Given the description of an element on the screen output the (x, y) to click on. 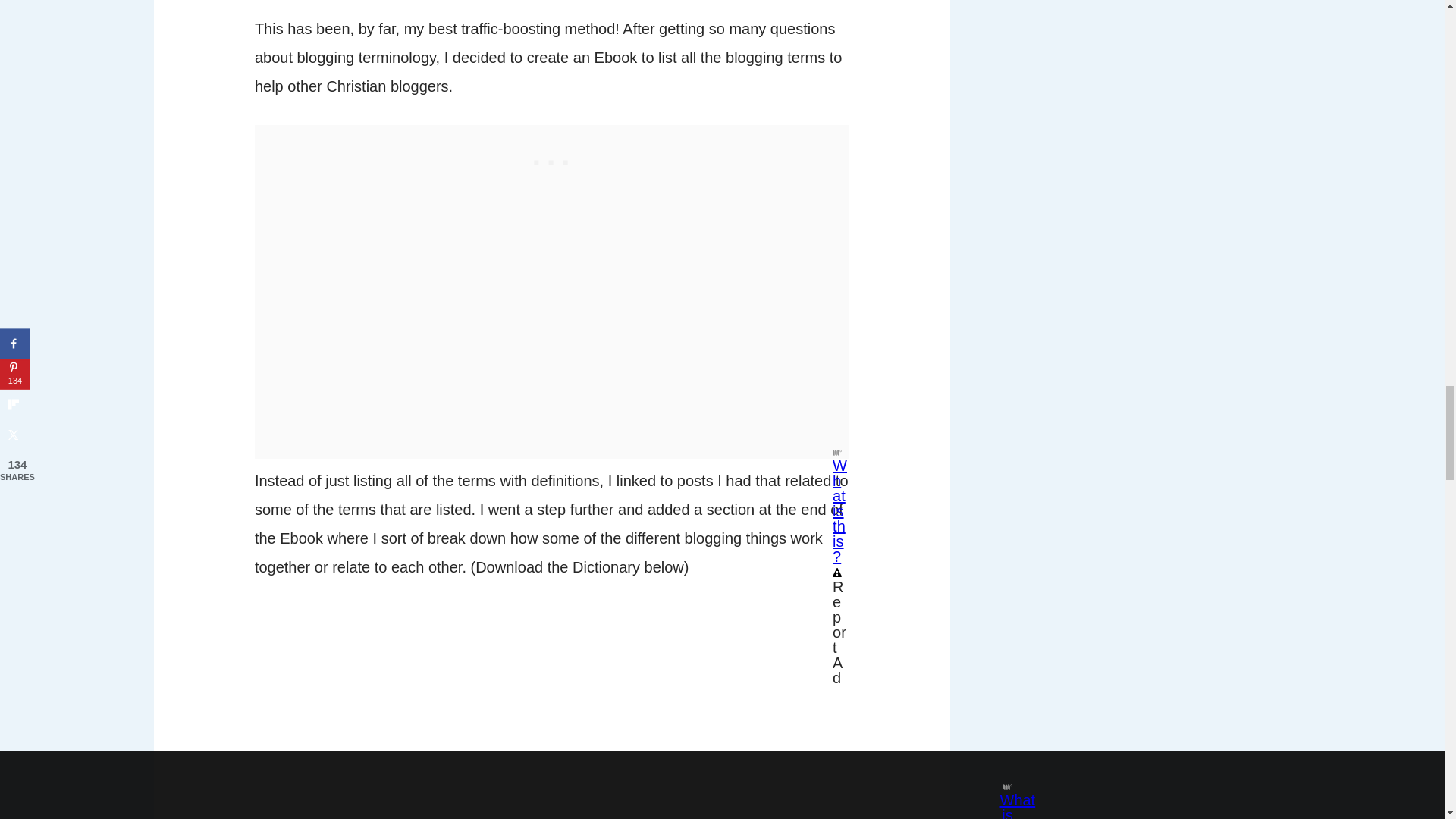
3rd party ad content (552, 159)
